Given the description of an element on the screen output the (x, y) to click on. 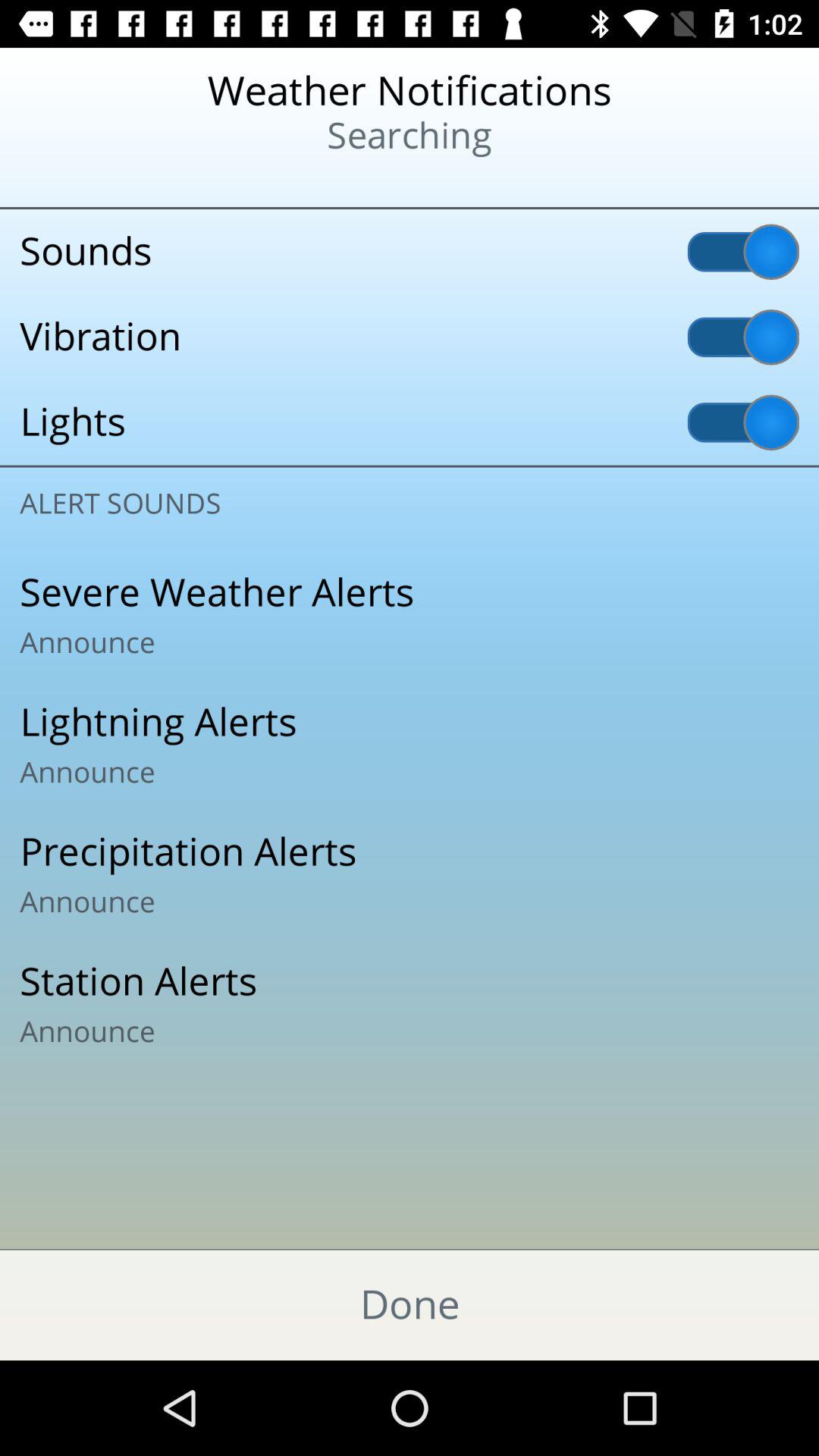
turn off the icon at the top left corner (99, 182)
